Given the description of an element on the screen output the (x, y) to click on. 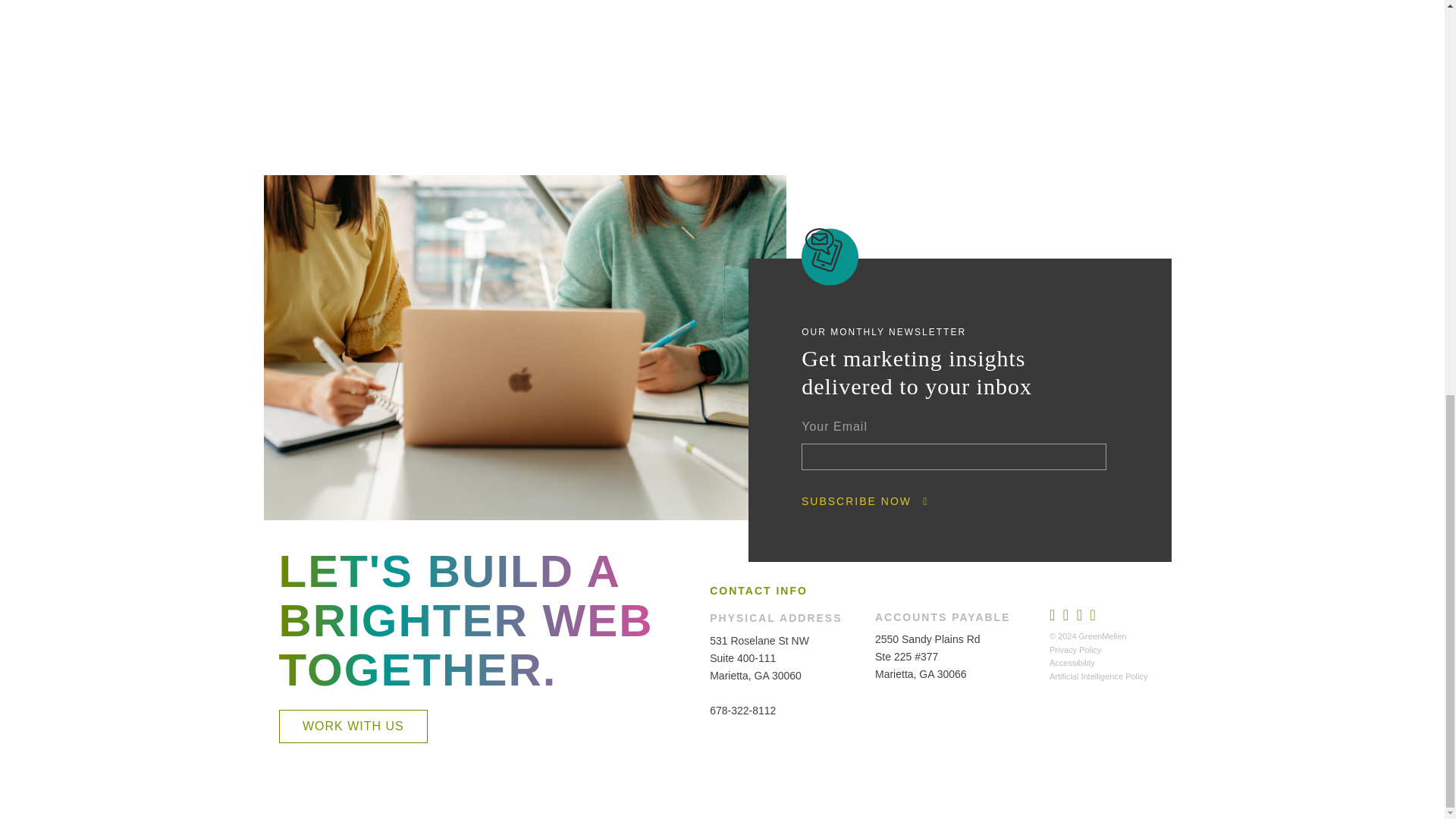
Subscribe now (856, 501)
Subscribe now (856, 501)
Artificial Intelligence Policy (1098, 675)
678-322-8112 (743, 710)
WORK WITH US (353, 726)
call-to-action-icon (830, 256)
Privacy Policy (1074, 649)
Accessibility (1071, 662)
